Given the description of an element on the screen output the (x, y) to click on. 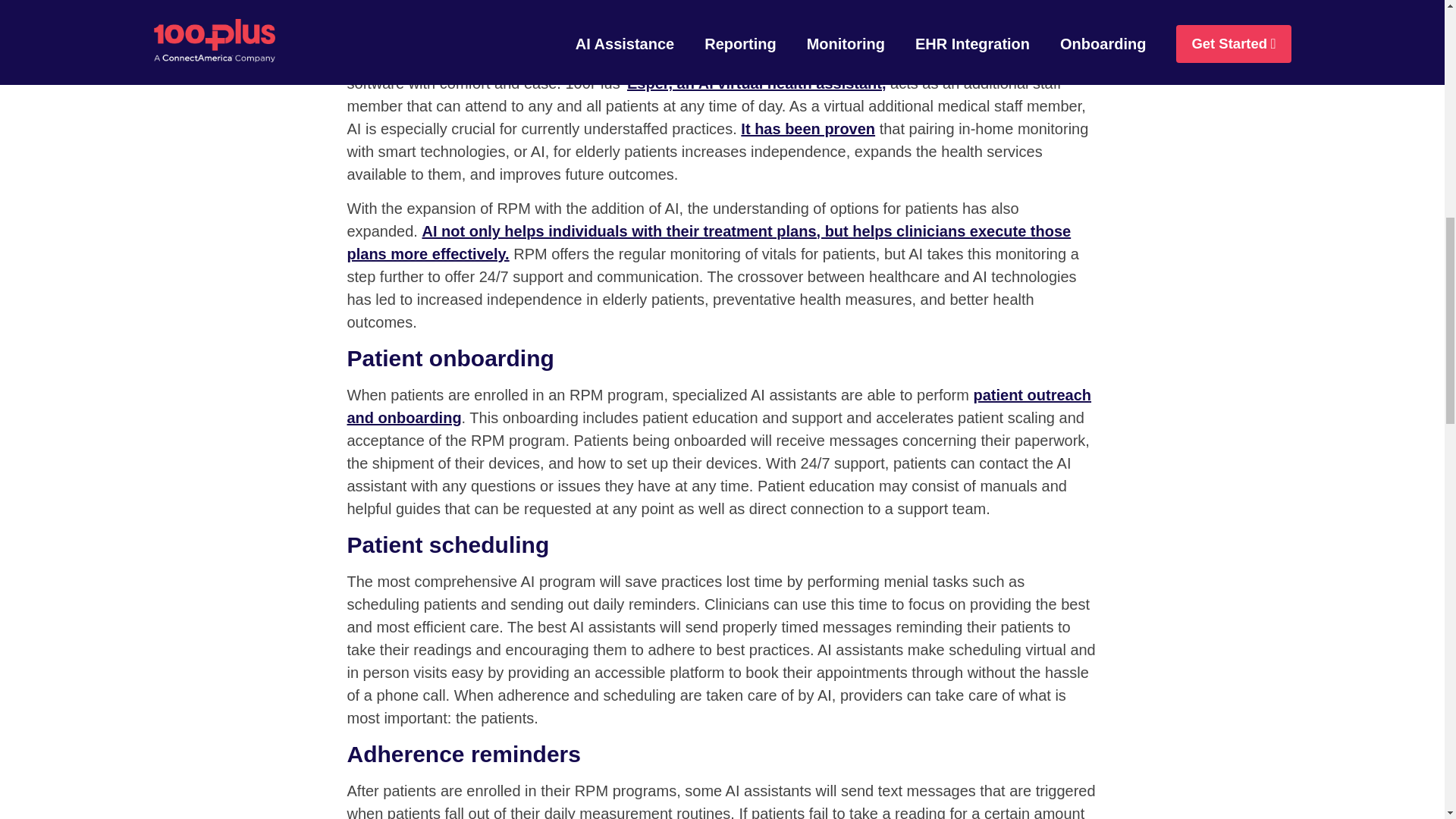
patient outreach and onboarding (719, 405)
It has been proven (808, 128)
Esper, an AI virtual health assistant, (756, 83)
